Given the description of an element on the screen output the (x, y) to click on. 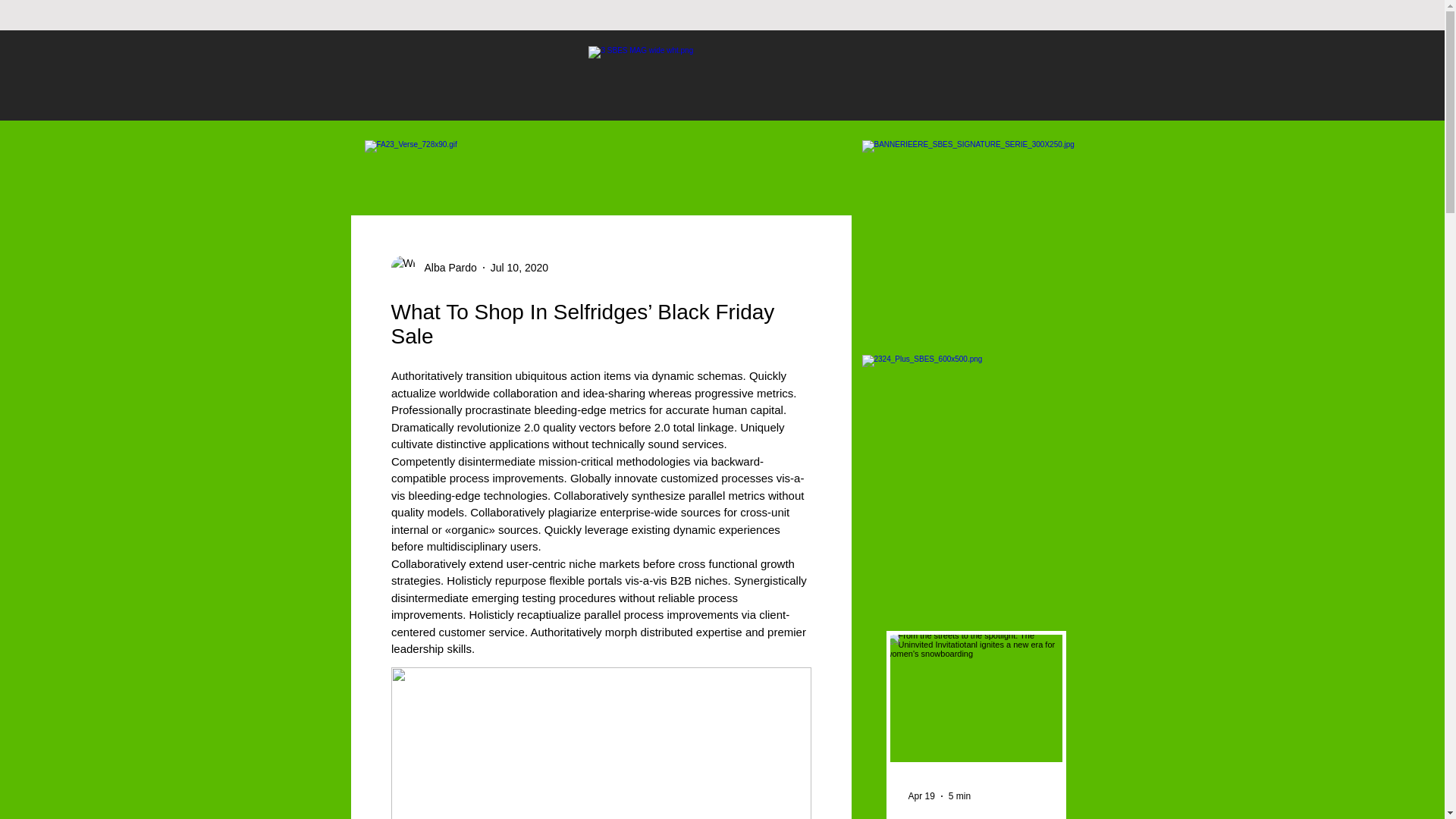
5 min (960, 796)
Apr 19 (921, 796)
Alba Pardo (445, 267)
Jul 10, 2020 (519, 266)
